Given the description of an element on the screen output the (x, y) to click on. 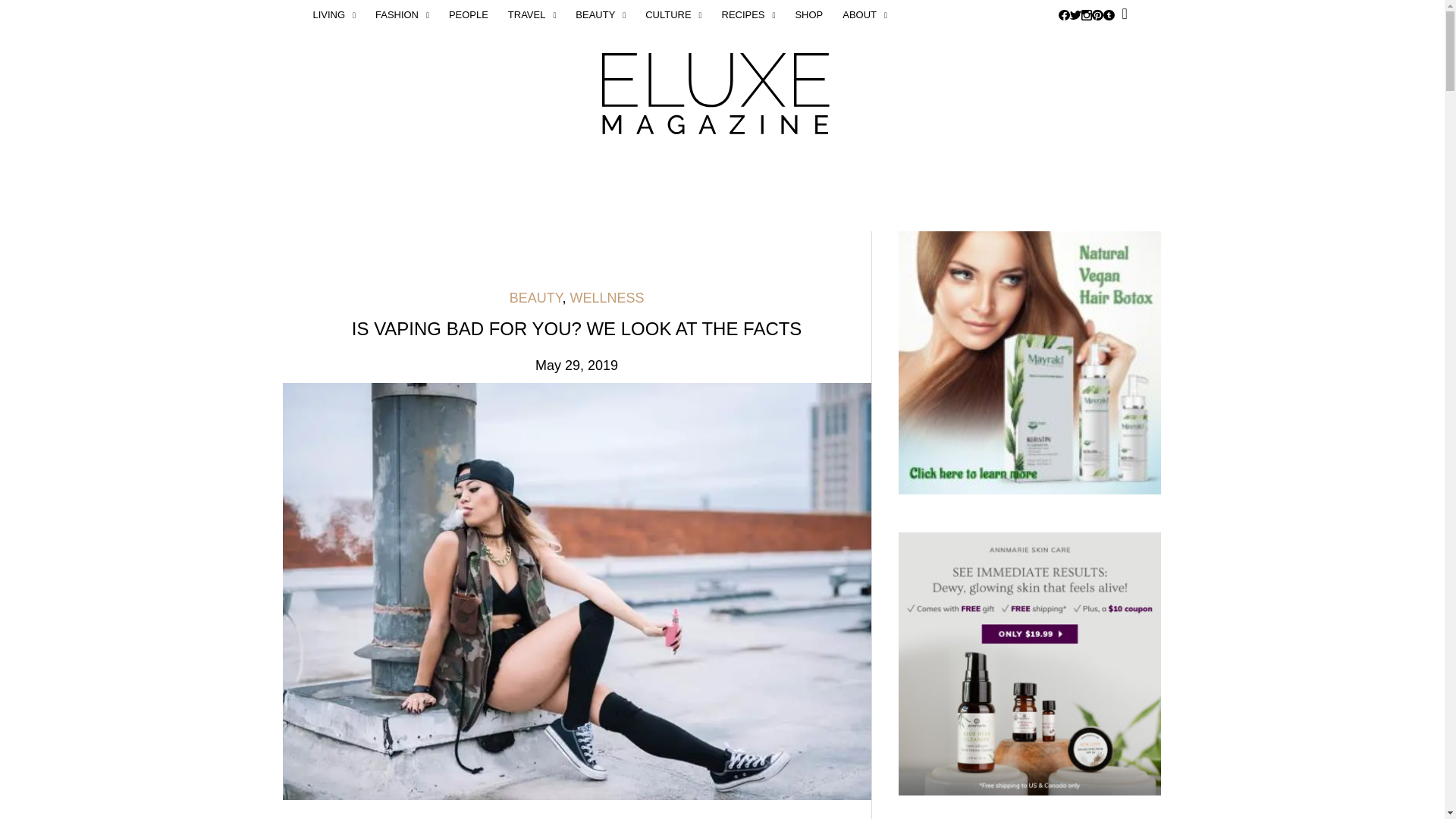
PEOPLE (468, 15)
RECIPES (748, 15)
BEAUTY (600, 15)
TRAVEL (531, 15)
LIVING (339, 15)
CULTURE (672, 15)
FASHION (402, 15)
